Given the description of an element on the screen output the (x, y) to click on. 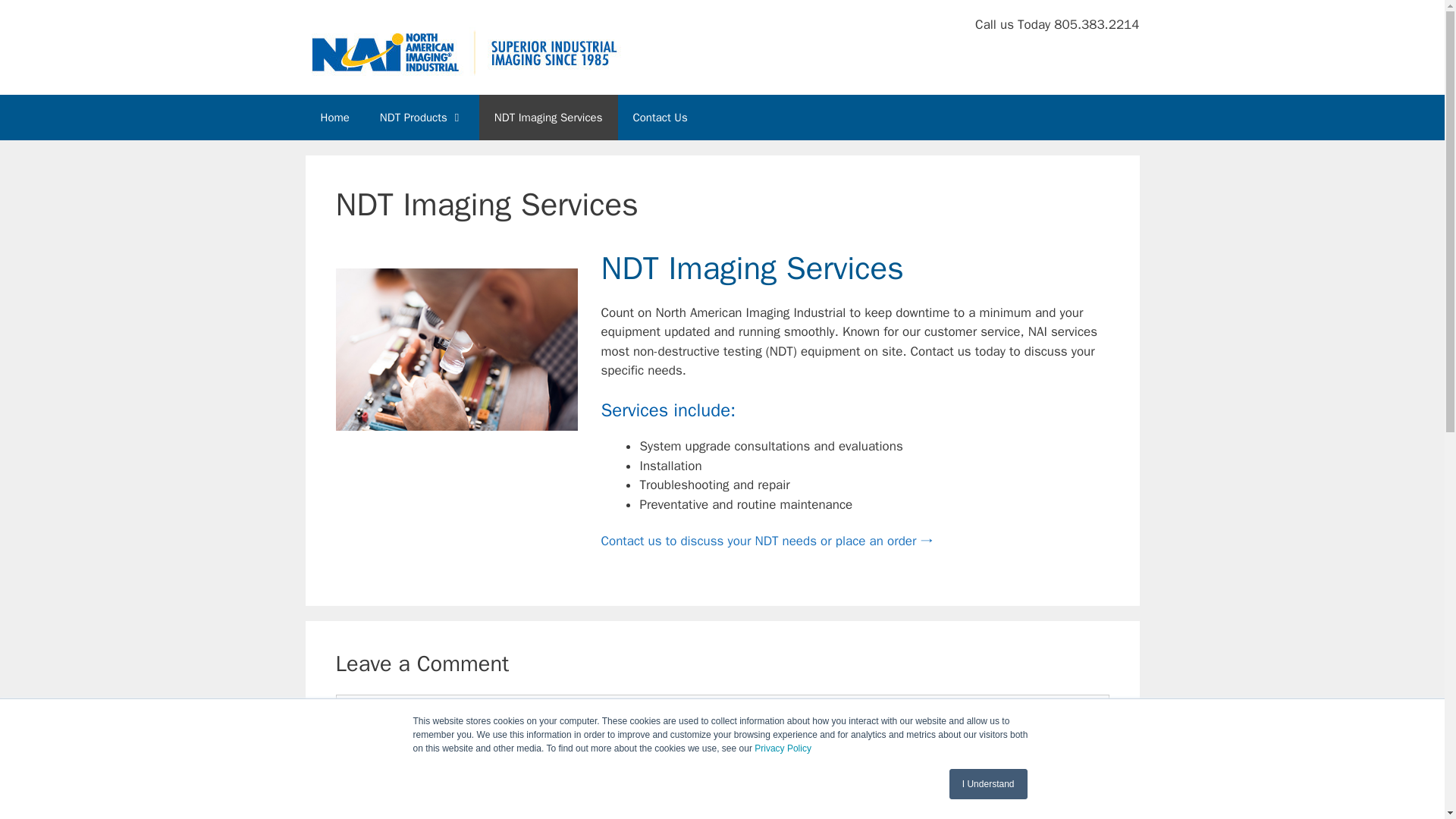
NDT Imaging Services (548, 117)
Privacy Policy (782, 747)
North American Imaging (464, 46)
Contact Us (659, 117)
I Understand (988, 784)
Home (334, 117)
North American Imaging (464, 47)
Contact Us (766, 540)
805.383.2214 (1096, 24)
NDT Products (422, 117)
